Given the description of an element on the screen output the (x, y) to click on. 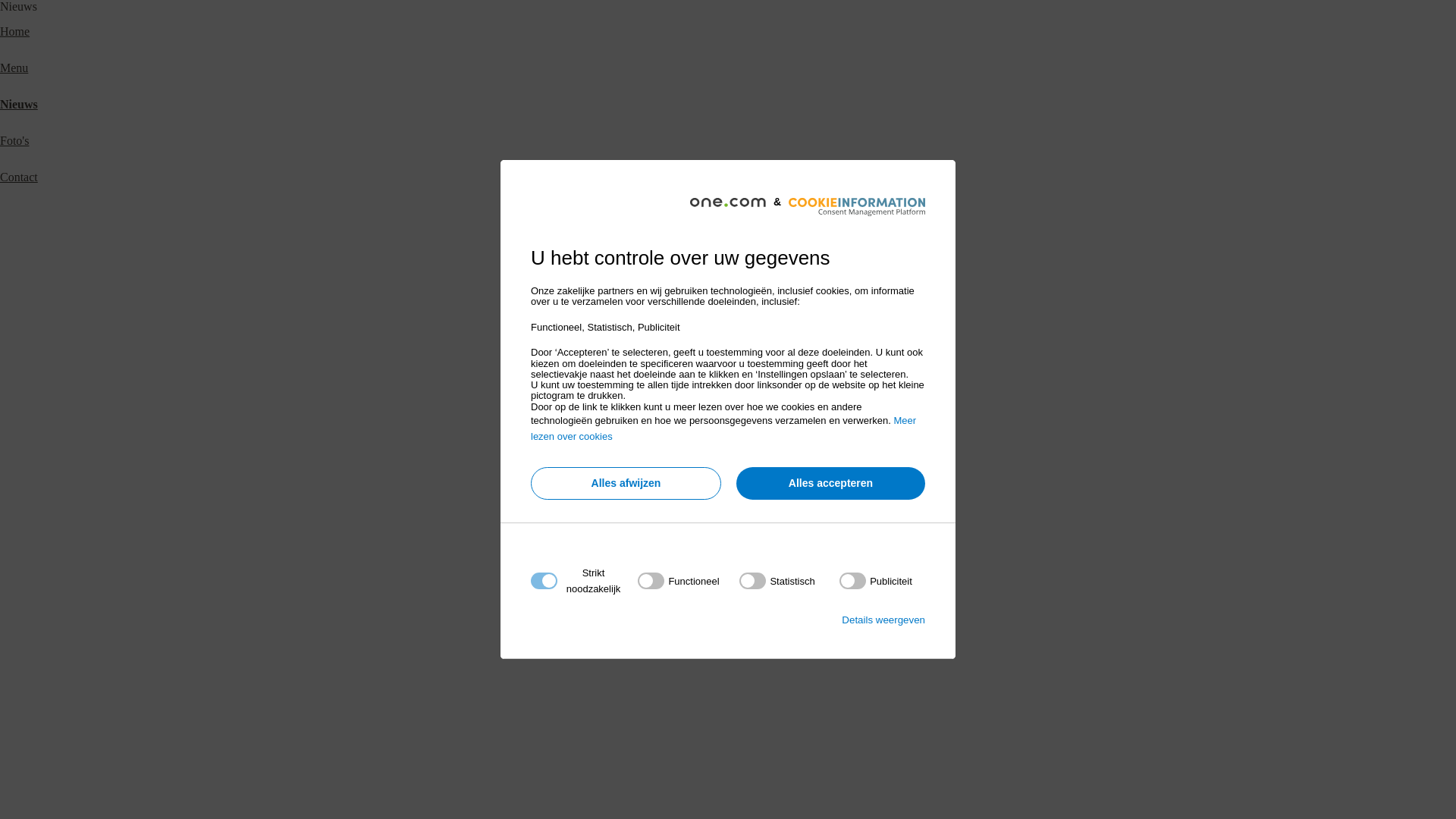
Menu Element type: text (14, 67)
Alles afwijzen Element type: text (625, 483)
on Element type: text (677, 580)
Functioneel Element type: text (723, 763)
Strikt noodzakelijk Element type: text (723, 673)
Alles accepteren Element type: text (830, 483)
Details weergeven Element type: text (883, 619)
Contact Element type: text (18, 176)
Foto's Element type: text (14, 140)
Nieuws Element type: text (18, 103)
Meer lezen over cookies Element type: text (723, 428)
on Element type: text (875, 580)
on Element type: text (776, 580)
Home Element type: text (14, 31)
